Given the description of an element on the screen output the (x, y) to click on. 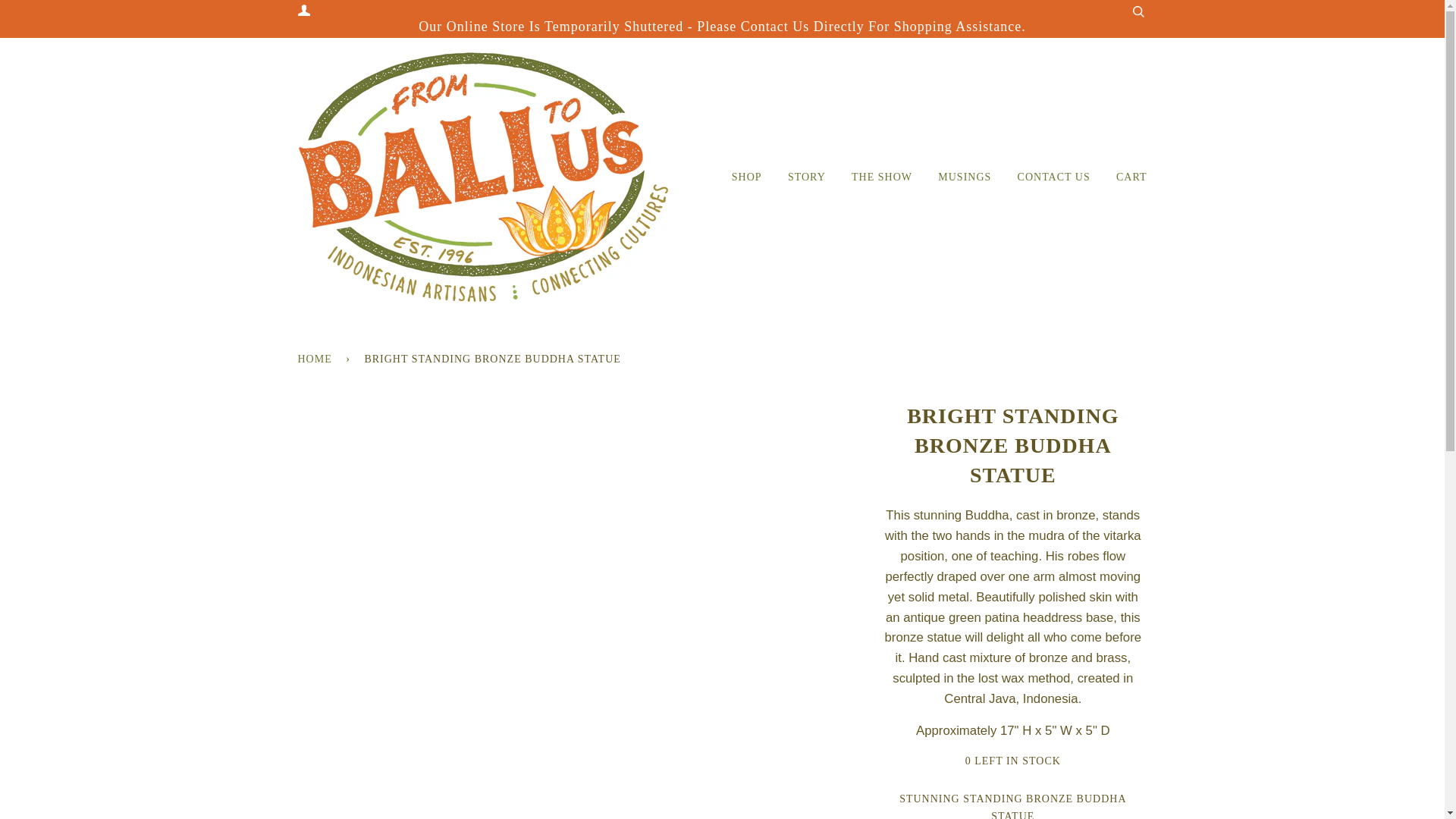
Back to the frontpage (316, 359)
Search (1137, 11)
